Given the description of an element on the screen output the (x, y) to click on. 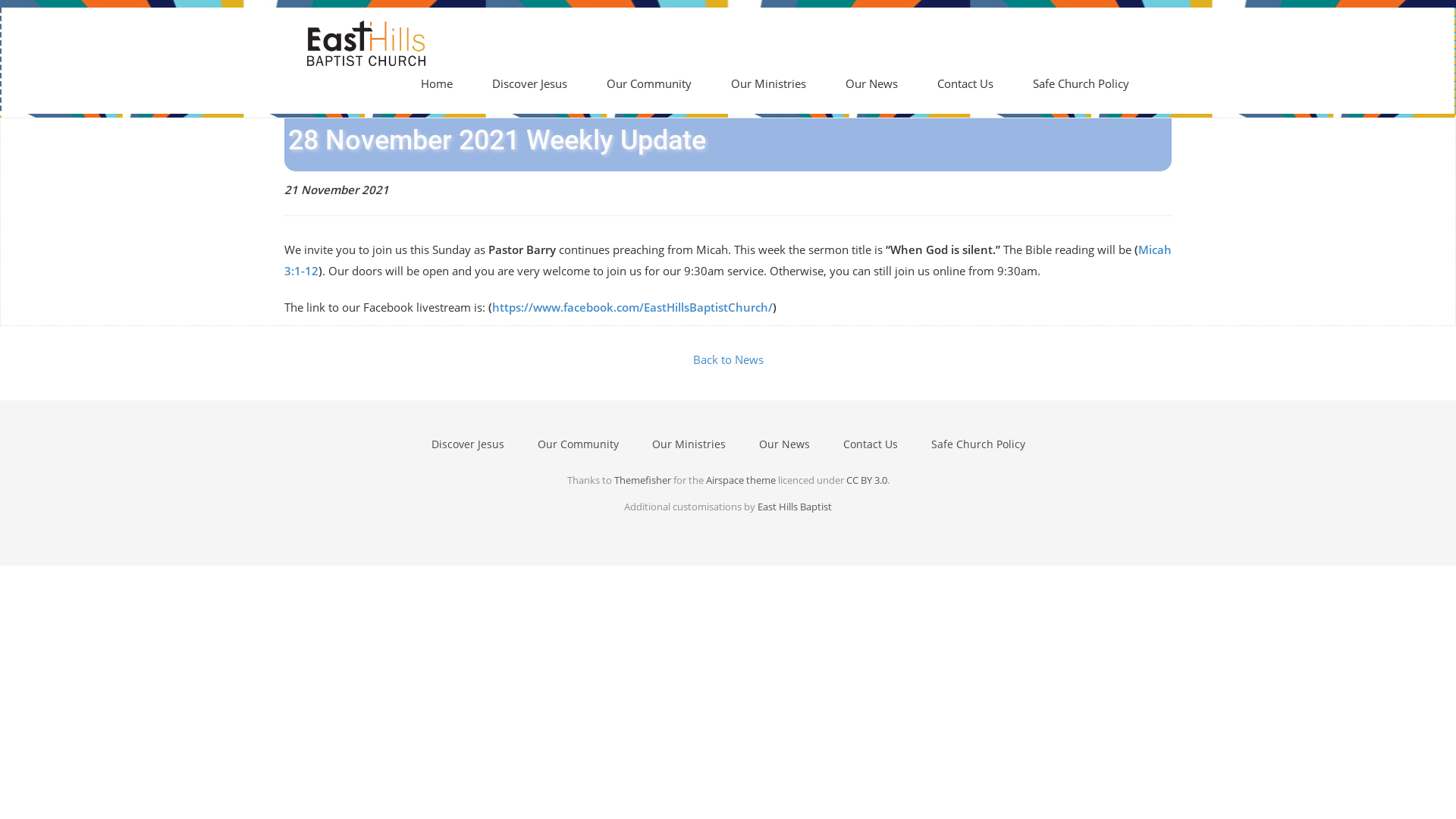
Themefisher Element type: text (642, 479)
Our News Element type: text (783, 443)
East Hills Baptist Element type: text (794, 506)
Our News Element type: text (871, 83)
Safe Church Policy Element type: text (978, 443)
Our Community Element type: text (577, 443)
Contact Us Element type: text (965, 83)
Back to News Element type: text (728, 359)
Airspace theme Element type: text (740, 479)
Our Community Element type: text (648, 83)
Home Element type: text (436, 83)
Discover Jesus Element type: text (529, 83)
Safe Church Policy Element type: text (1080, 83)
Contact Us Element type: text (870, 443)
https://www.facebook.com/EastHillsBaptistChurch/ Element type: text (632, 306)
Our Ministries Element type: text (768, 83)
Micah 3:1-12 Element type: text (727, 259)
CC BY 3.0 Element type: text (866, 479)
Our Ministries Element type: text (688, 443)
Discover Jesus Element type: text (466, 443)
